Given the description of an element on the screen output the (x, y) to click on. 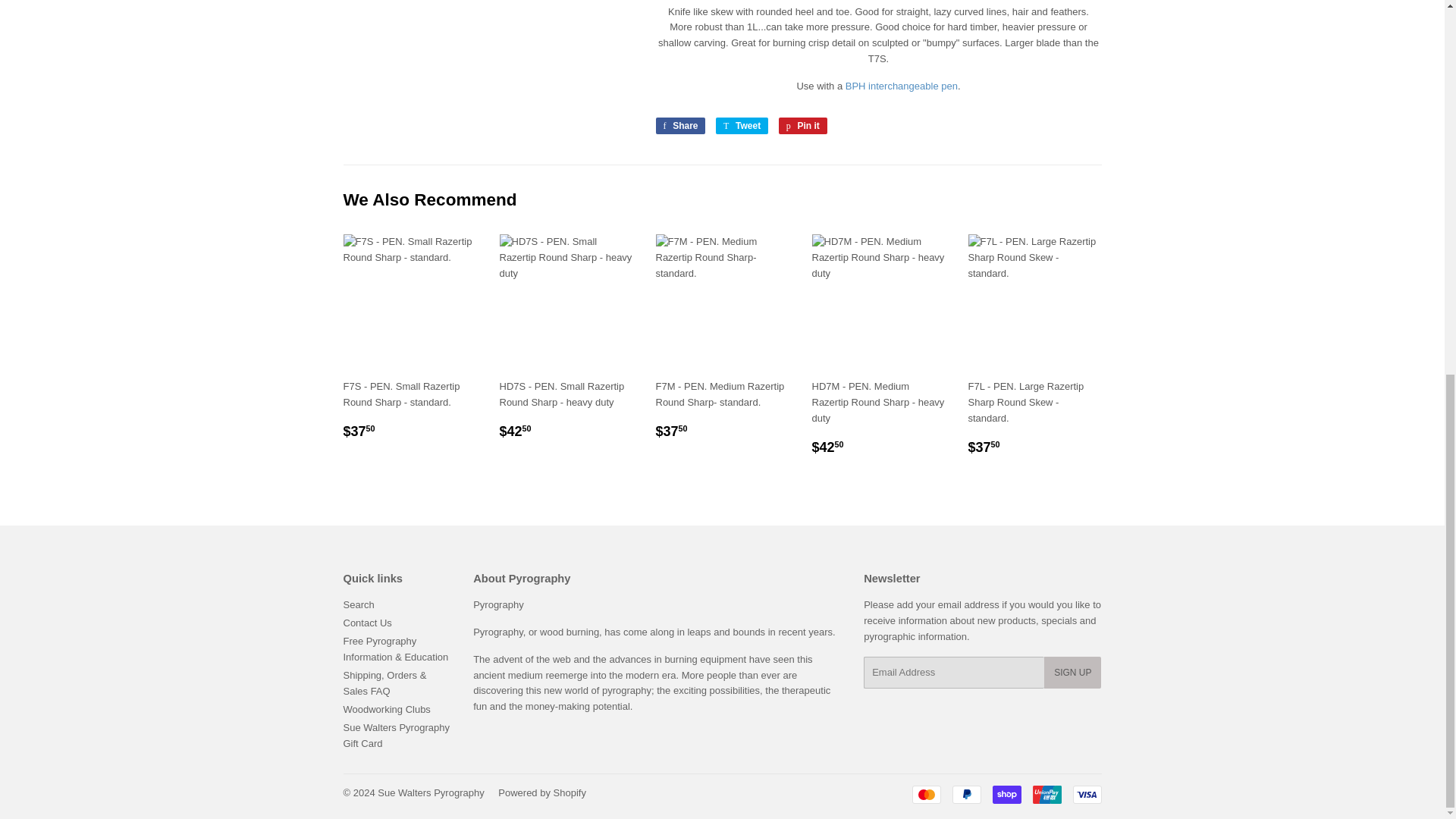
Visa (1085, 794)
PayPal (966, 794)
Tweet on Twitter (742, 125)
Mastercard (925, 794)
Pin on Pinterest (802, 125)
Shop Pay (1005, 794)
Share on Facebook (679, 125)
Union Pay (1046, 794)
